Given the description of an element on the screen output the (x, y) to click on. 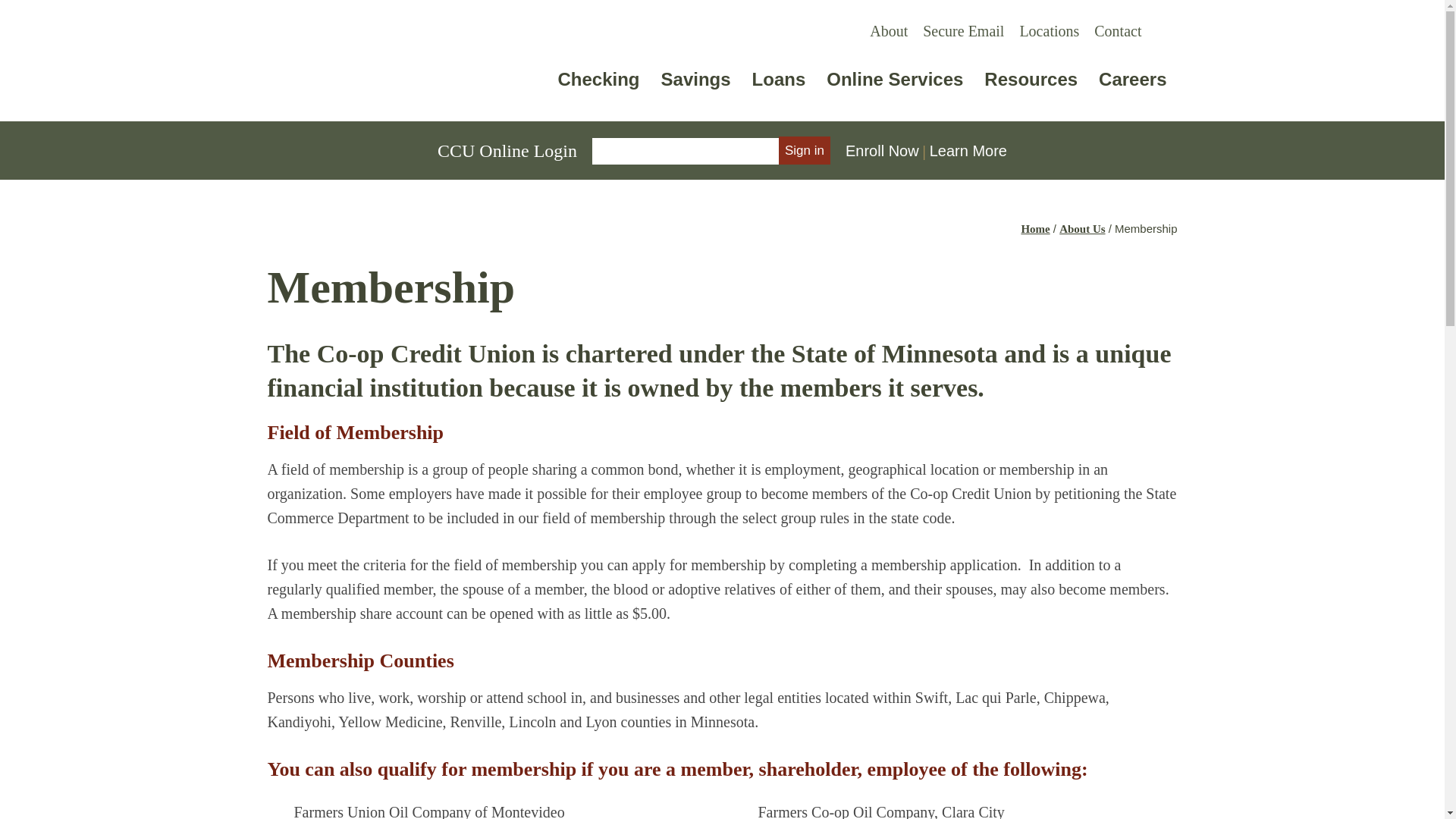
Contact (1117, 30)
Secure Email (963, 30)
Co-op Credit Union (862, 84)
About (392, 61)
Locations (888, 30)
